Given the description of an element on the screen output the (x, y) to click on. 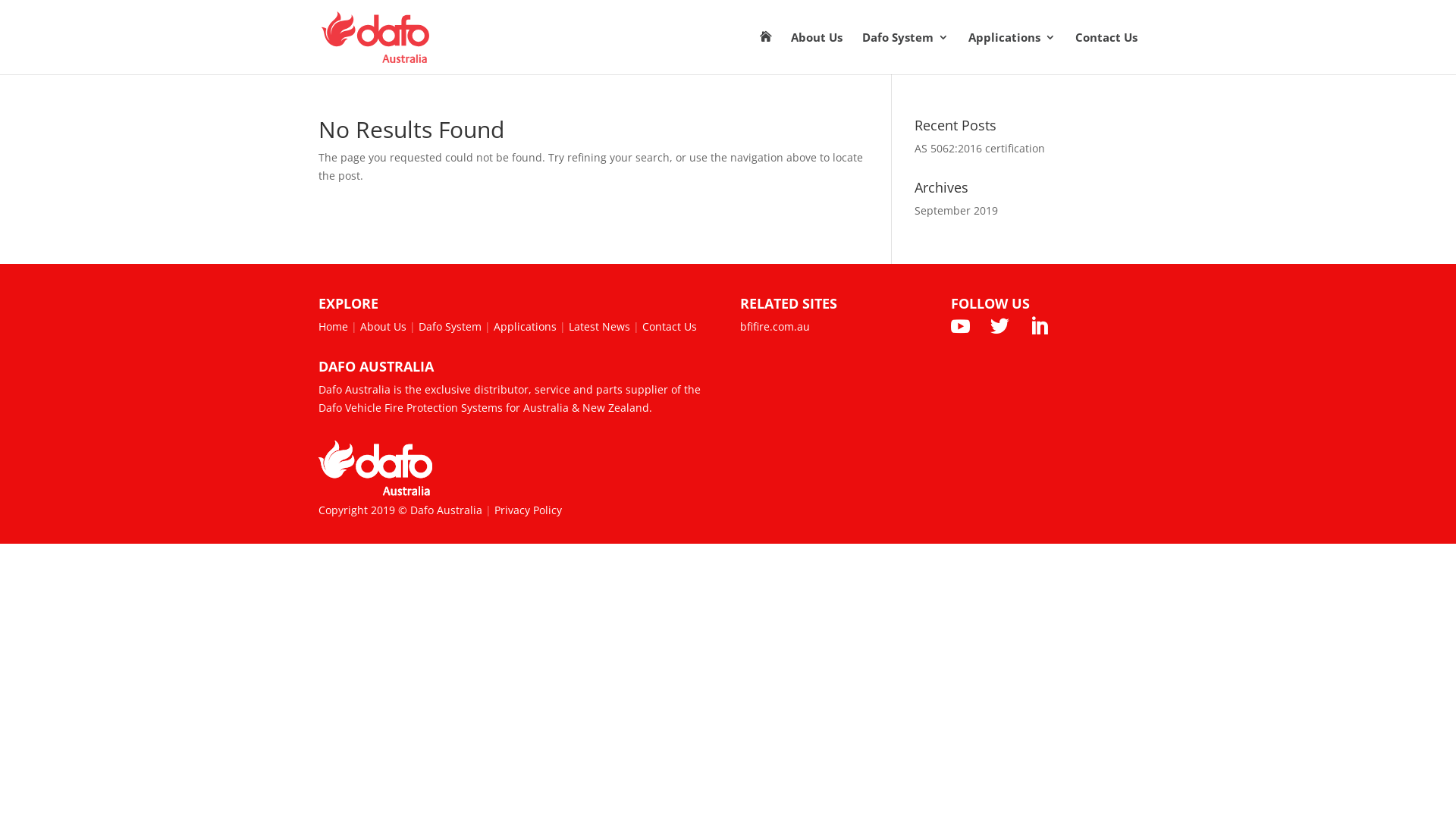
Dafo System Element type: text (449, 326)
Contact Us Element type: text (669, 326)
bfifire.com.au Element type: text (774, 326)
Applications Element type: text (1011, 52)
About Us Element type: text (383, 326)
Dafo System Element type: text (905, 52)
Privacy Policy Element type: text (527, 509)
AS 5062:2016 certification Element type: text (979, 148)
September 2019 Element type: text (955, 210)
About Us Element type: text (816, 52)
Home Element type: text (333, 326)
Latest News Element type: text (599, 326)
Contact Us Element type: text (1106, 52)
Applications Element type: text (524, 326)
